Given the description of an element on the screen output the (x, y) to click on. 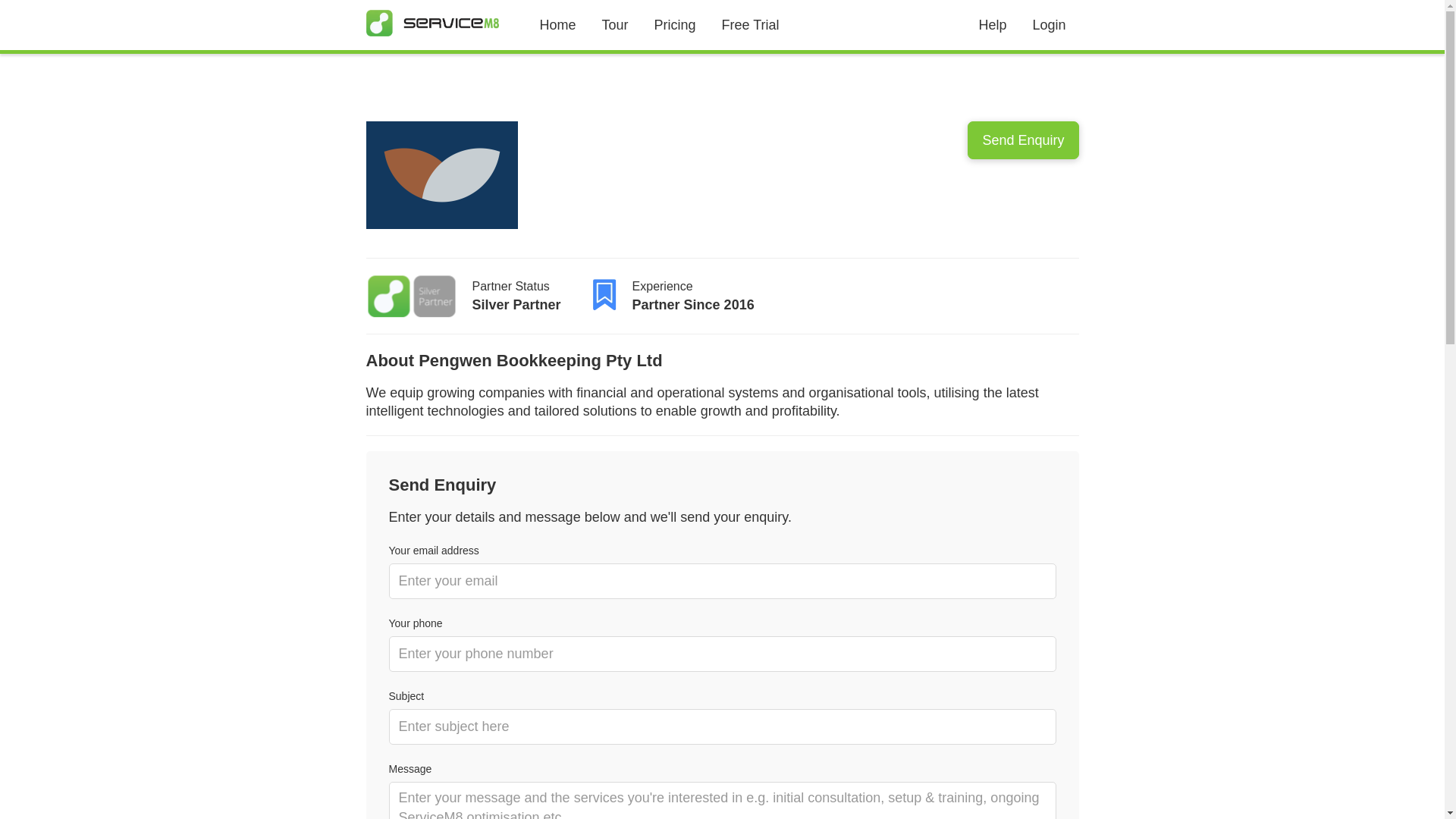
Help (992, 24)
Login (1048, 24)
Tour (615, 24)
Free Trial (750, 24)
Send Enquiry (1023, 139)
Home (556, 24)
Pricing (675, 24)
